Given the description of an element on the screen output the (x, y) to click on. 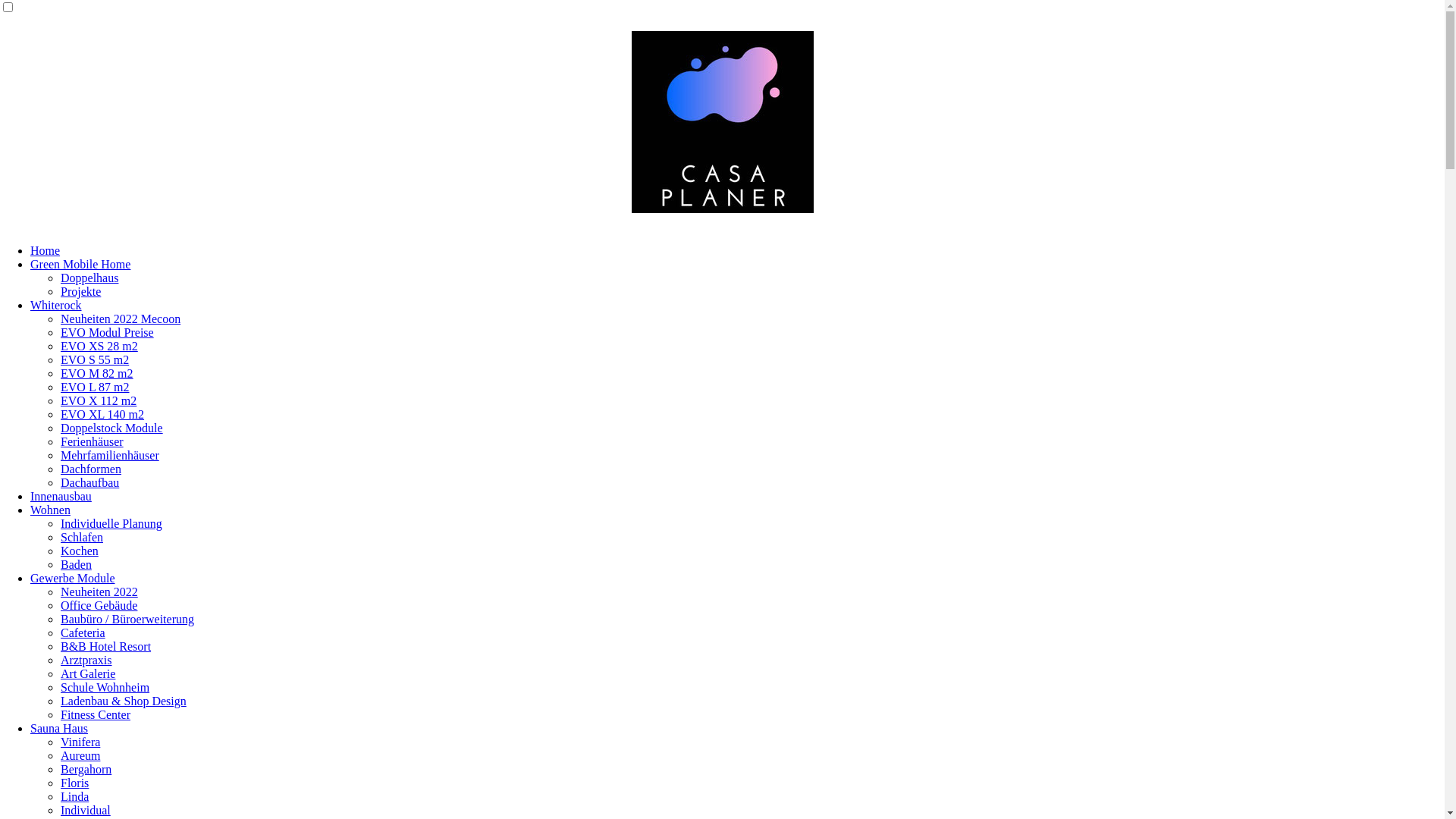
Ladenbau & Shop Design Element type: text (123, 700)
Whiterock Element type: text (55, 304)
Innenausbau Element type: text (60, 495)
Projekte Element type: text (80, 291)
EVO S 55 m2 Element type: text (94, 359)
EVO M 82 m2 Element type: text (96, 373)
EVO XL 140 m2 Element type: text (102, 413)
Gewerbe Module Element type: text (72, 577)
Individuelle Planung Element type: text (111, 523)
Aureum Element type: text (80, 755)
Bergahorn Element type: text (85, 768)
Arztpraxis Element type: text (86, 659)
EVO L 87 m2 Element type: text (94, 386)
Doppelhaus Element type: text (89, 277)
Wohnen Element type: text (50, 509)
Vinifera Element type: text (80, 741)
Art Galerie Element type: text (87, 673)
Neuheiten 2022 Element type: text (99, 591)
Schule Wohnheim Element type: text (104, 686)
EVO X 112 m2 Element type: text (98, 400)
Linda Element type: text (74, 796)
Home Element type: text (44, 250)
Doppelstock Module Element type: text (111, 427)
Green Mobile Home Element type: text (80, 263)
Individual Element type: text (85, 809)
Fitness Center Element type: text (95, 714)
Floris Element type: text (74, 782)
Baden Element type: text (75, 564)
Neuheiten 2022 Mecoon Element type: text (120, 318)
B&B Hotel Resort Element type: text (105, 646)
Dachaufbau Element type: text (89, 482)
Schlafen Element type: text (81, 536)
Sauna Haus Element type: text (58, 727)
Dachformen Element type: text (90, 468)
Kochen Element type: text (79, 550)
Cafeteria Element type: text (82, 632)
EVO XS 28 m2 Element type: text (99, 345)
EVO Modul Preise Element type: text (106, 332)
